Given the description of an element on the screen output the (x, y) to click on. 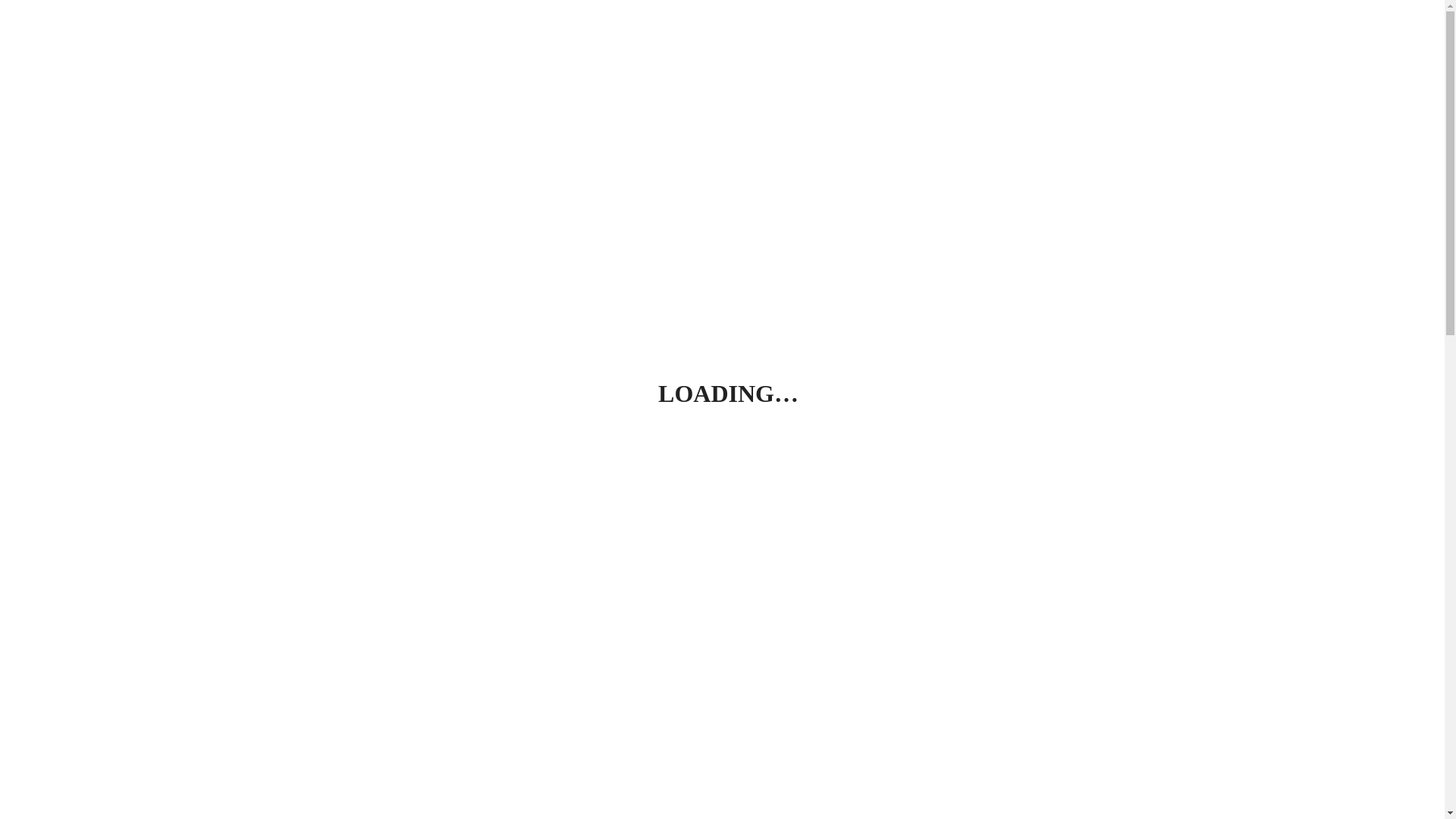
FLOOR PLANS Element type: text (928, 58)
332Main Element type: hover (45, 88)
RESIDENT LOG-IN Element type: text (1380, 58)
TOURS Element type: text (1198, 58)
GALLERY Element type: text (844, 58)
NEIGHBORHOOD Element type: text (1032, 58)
Skip to content Element type: text (6, 6)
AMENITIES Element type: text (1128, 58)
APPLY TODAY Element type: text (1275, 58)
